Given the description of an element on the screen output the (x, y) to click on. 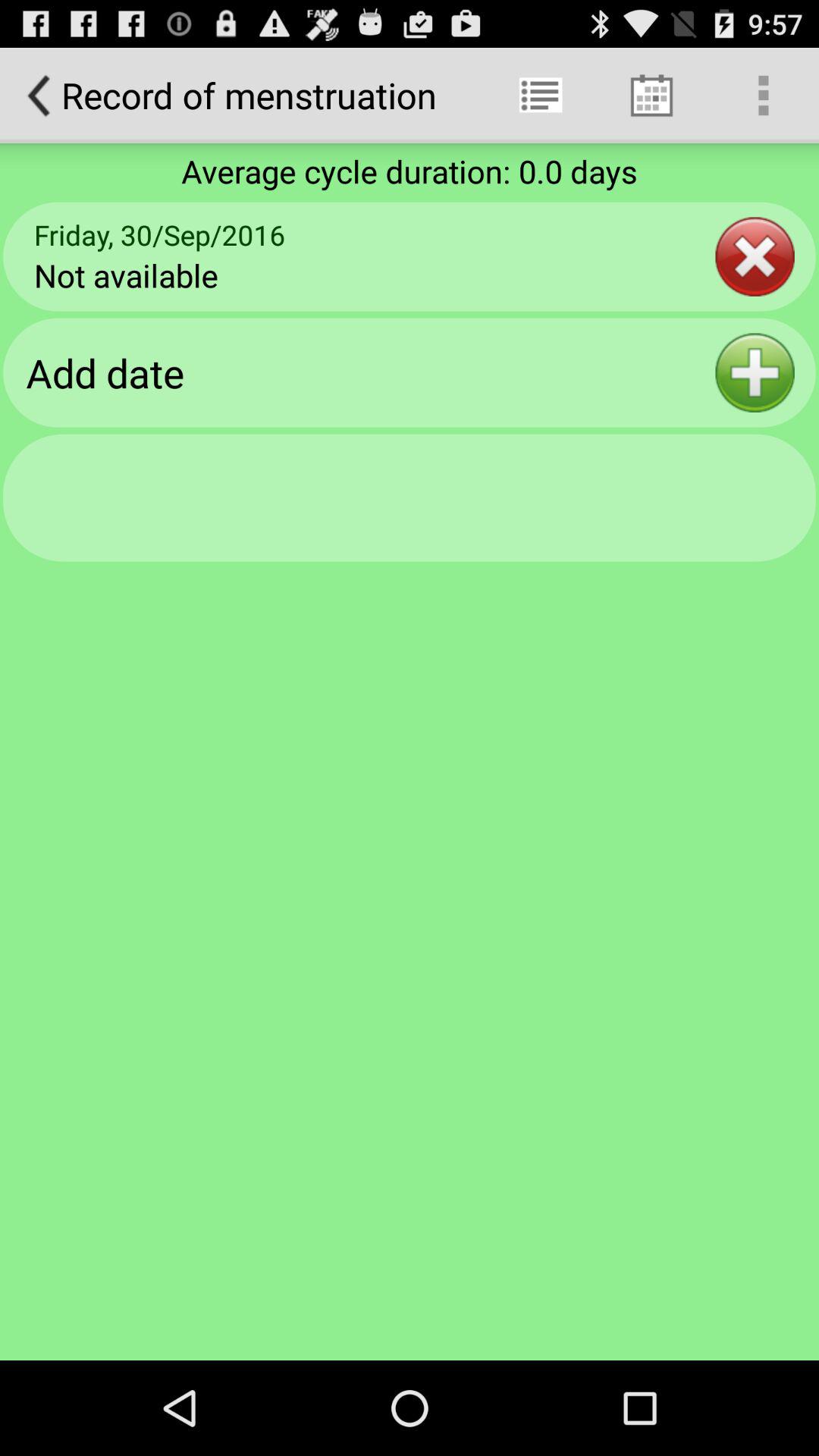
open the app above the average cycle duration (540, 95)
